Given the description of an element on the screen output the (x, y) to click on. 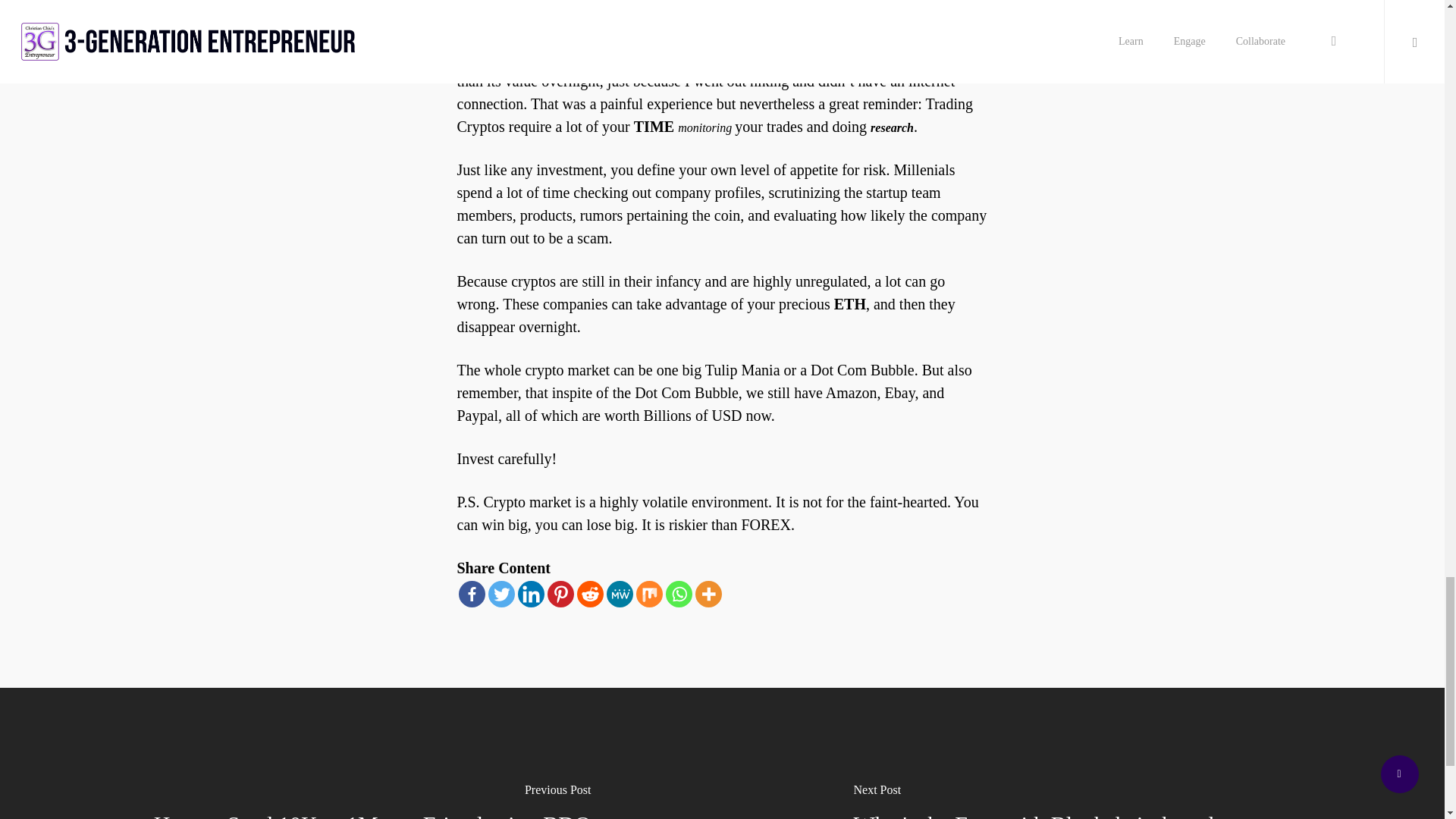
Mix (648, 593)
Linkedin (529, 593)
Whatsapp (679, 593)
Pinterest (560, 593)
Reddit (589, 593)
More (707, 593)
MeWe (620, 593)
Twitter (501, 593)
Facebook (471, 593)
